Given the description of an element on the screen output the (x, y) to click on. 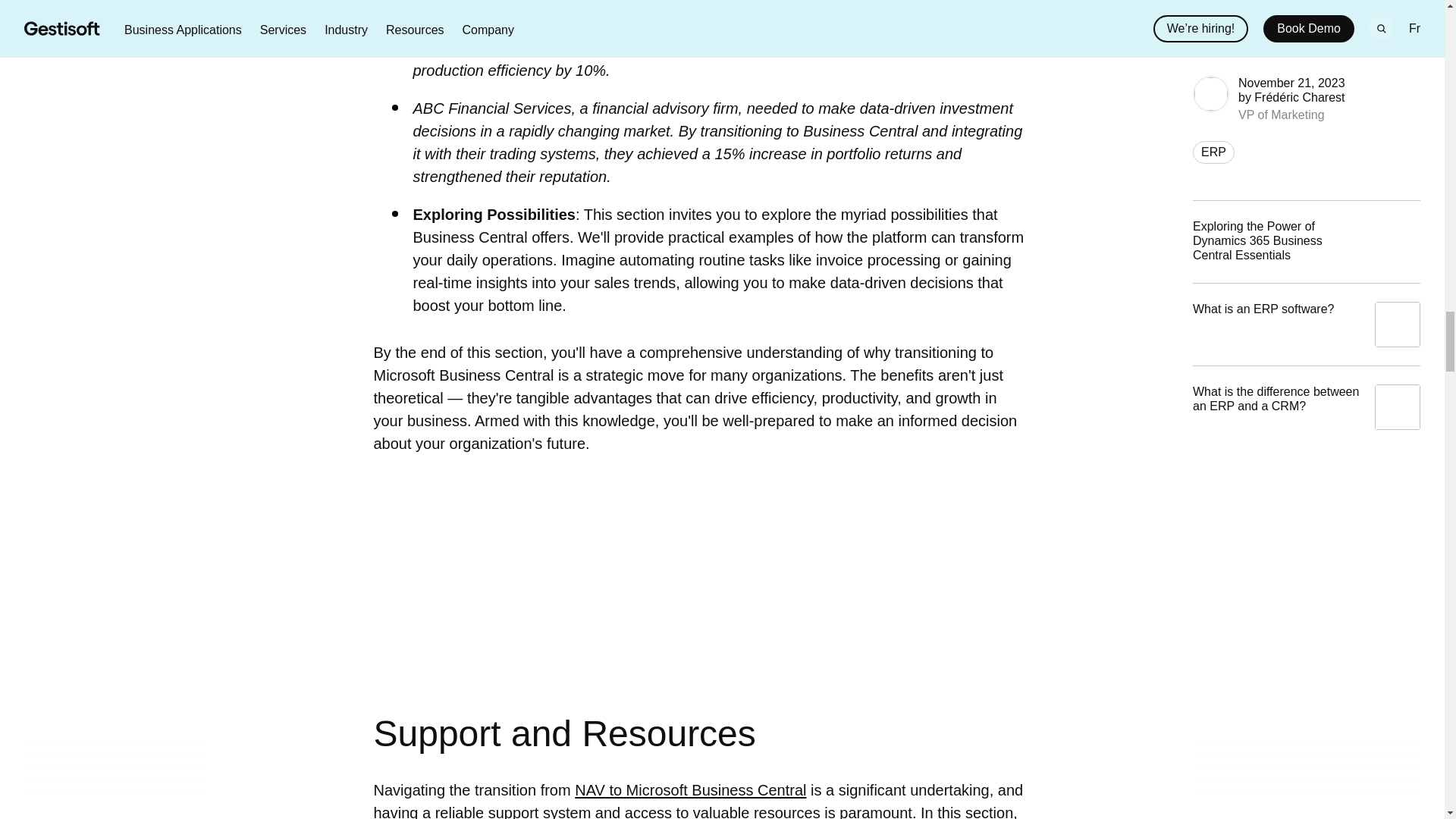
NAV to Microsoft Business Central (690, 790)
